Given the description of an element on the screen output the (x, y) to click on. 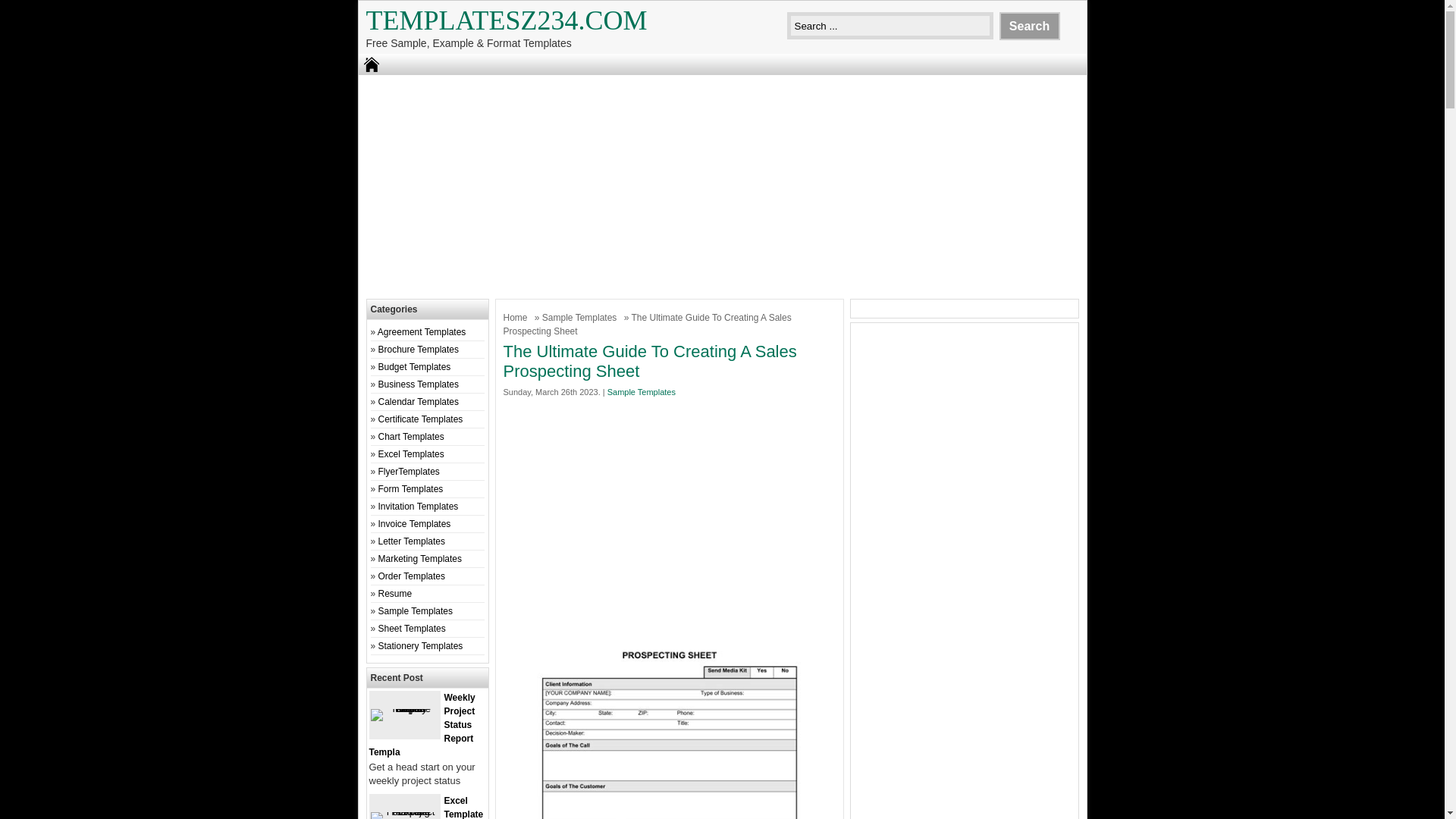
Budget Templates (414, 366)
Brochure Templates (419, 348)
Home (517, 317)
Excel Template For Project Planning (425, 807)
Chart Templates (411, 436)
Sheet Templates (411, 628)
Order Templates (411, 575)
Weekly Project Status Report Template Excel (421, 724)
TEMPLATESZ234.COM (505, 20)
Sample Templates (581, 317)
Weekly Project Status Report Template Excel (403, 708)
Templatesz234.com (505, 20)
Marketing Templates (420, 558)
Sample Templates (415, 611)
Stationery Templates (420, 645)
